Given the description of an element on the screen output the (x, y) to click on. 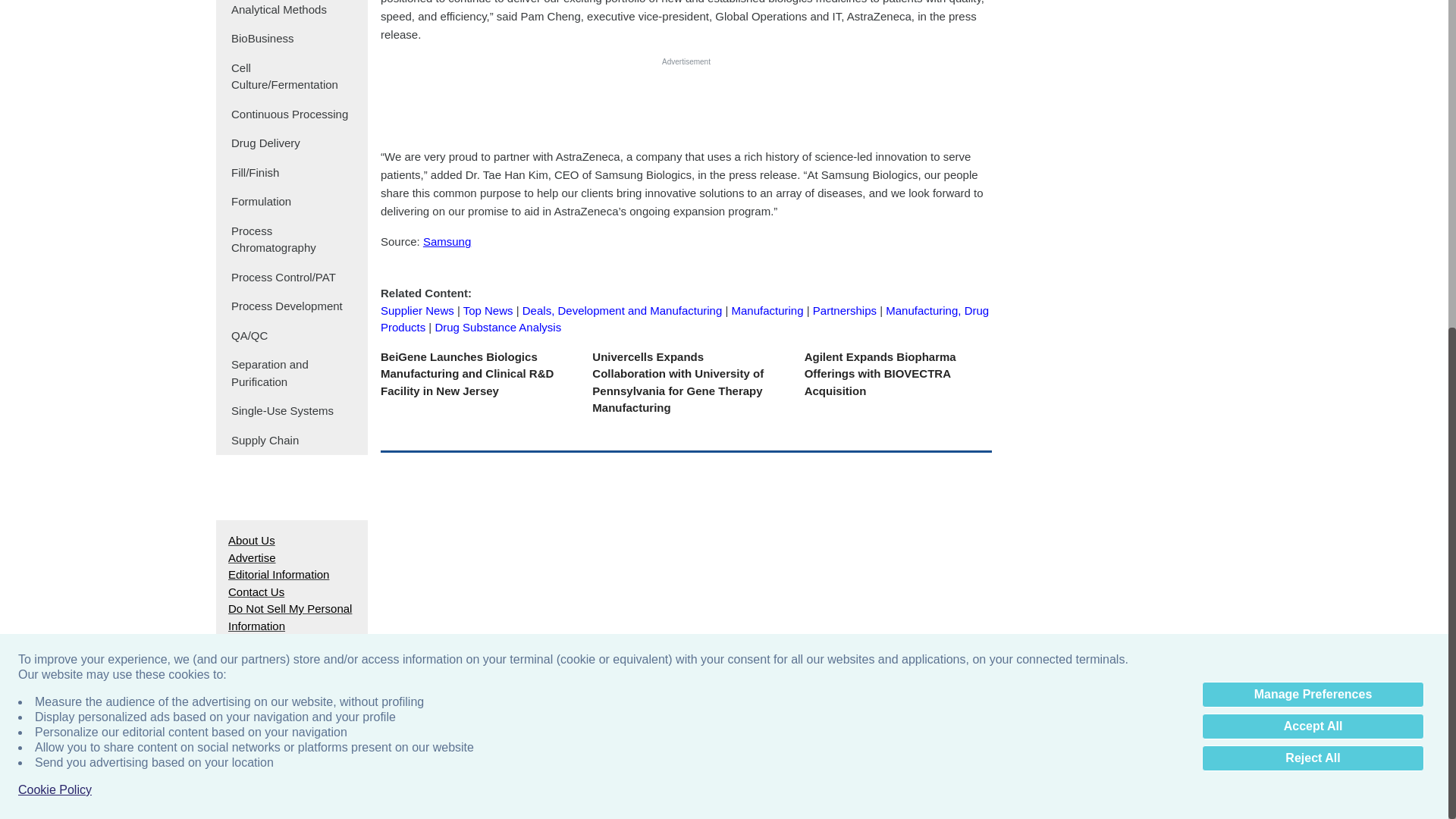
Reject All (1312, 211)
Accept All (1312, 179)
Cookie Policy (54, 242)
3rd party ad content (723, 233)
3rd party ad content (1117, 34)
3rd party ad content (686, 101)
Manage Preferences (1312, 147)
